Given the description of an element on the screen output the (x, y) to click on. 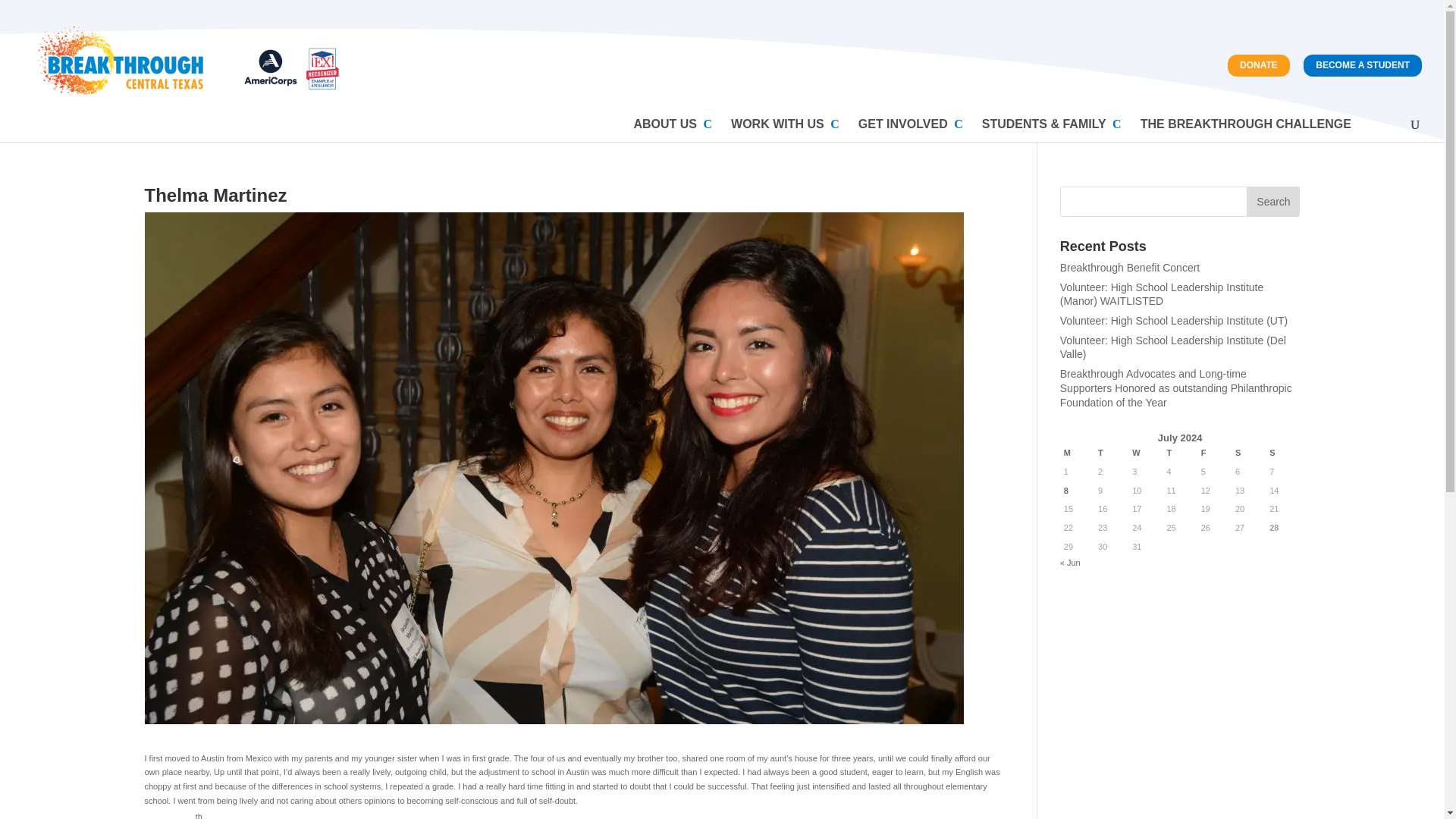
Thursday (1178, 452)
WORK WITH US (785, 129)
Tuesday (1111, 452)
Wednesday (1144, 452)
Saturday (1248, 452)
BECOME A STUDENT (1362, 65)
Friday (1213, 452)
Monday (1076, 452)
DONATE (1258, 65)
Search (1273, 201)
ABOUT US (672, 129)
GET INVOLVED (910, 129)
Sunday (1282, 452)
THE BREAKTHROUGH CHALLENGE (1245, 129)
